Given the description of an element on the screen output the (x, y) to click on. 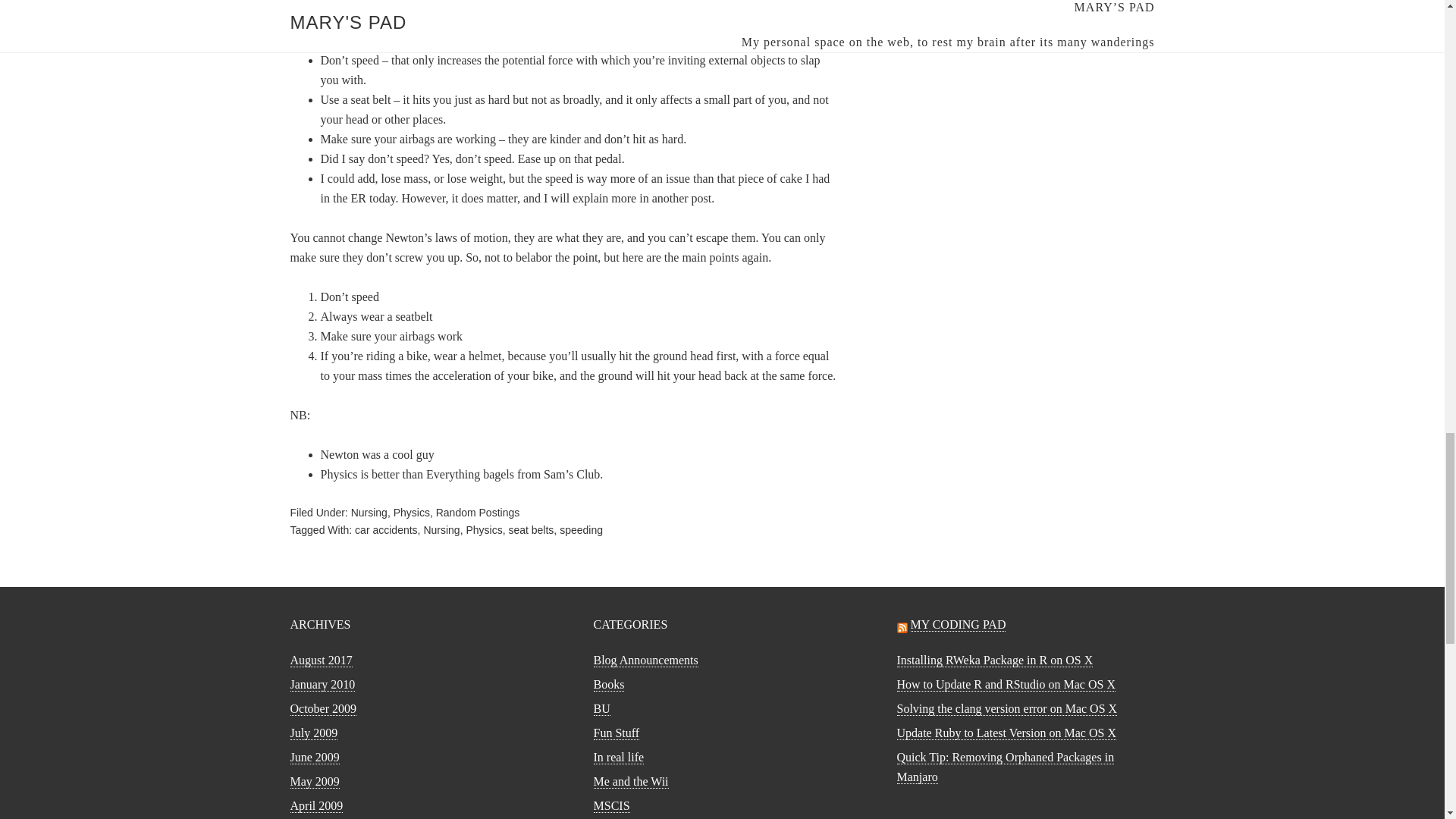
July 2009 (313, 733)
October 2009 (322, 708)
Nursing (441, 530)
seat belts (530, 530)
Physics (483, 530)
August 2017 (320, 660)
June 2009 (314, 757)
Nursing (368, 512)
Random Postings (477, 512)
Physics (411, 512)
car accidents (385, 530)
speeding (580, 530)
January 2010 (322, 684)
